Given the description of an element on the screen output the (x, y) to click on. 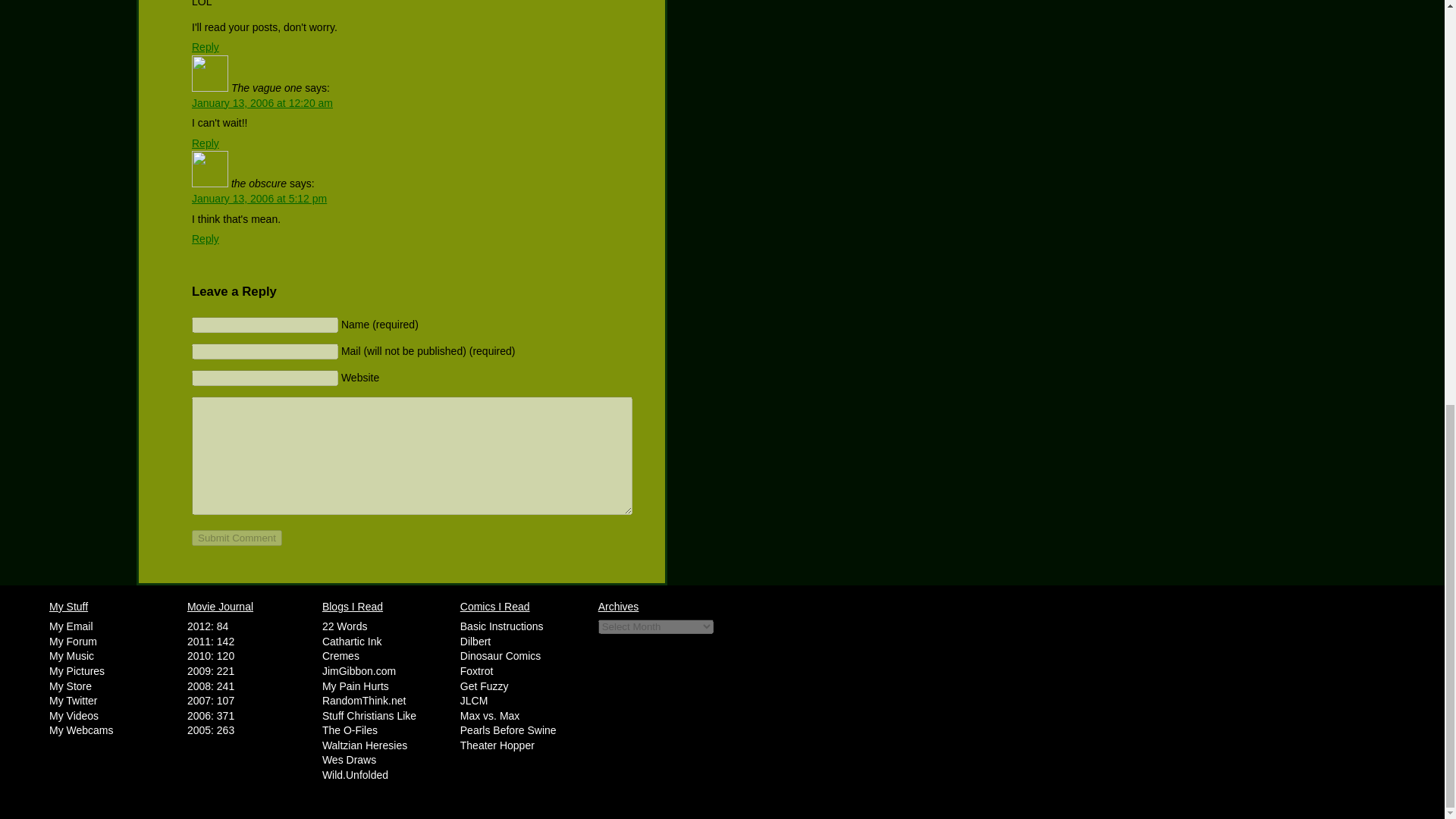
January 13, 2006 at 5:12 pm (259, 198)
January 13, 2006 at 12:20 am (262, 102)
My Pain Hurts (354, 685)
My Videos (74, 715)
Reply (205, 238)
forum (73, 641)
Submit Comment (237, 537)
Reply (205, 143)
My Music (71, 655)
Submit Comment (237, 537)
